Given the description of an element on the screen output the (x, y) to click on. 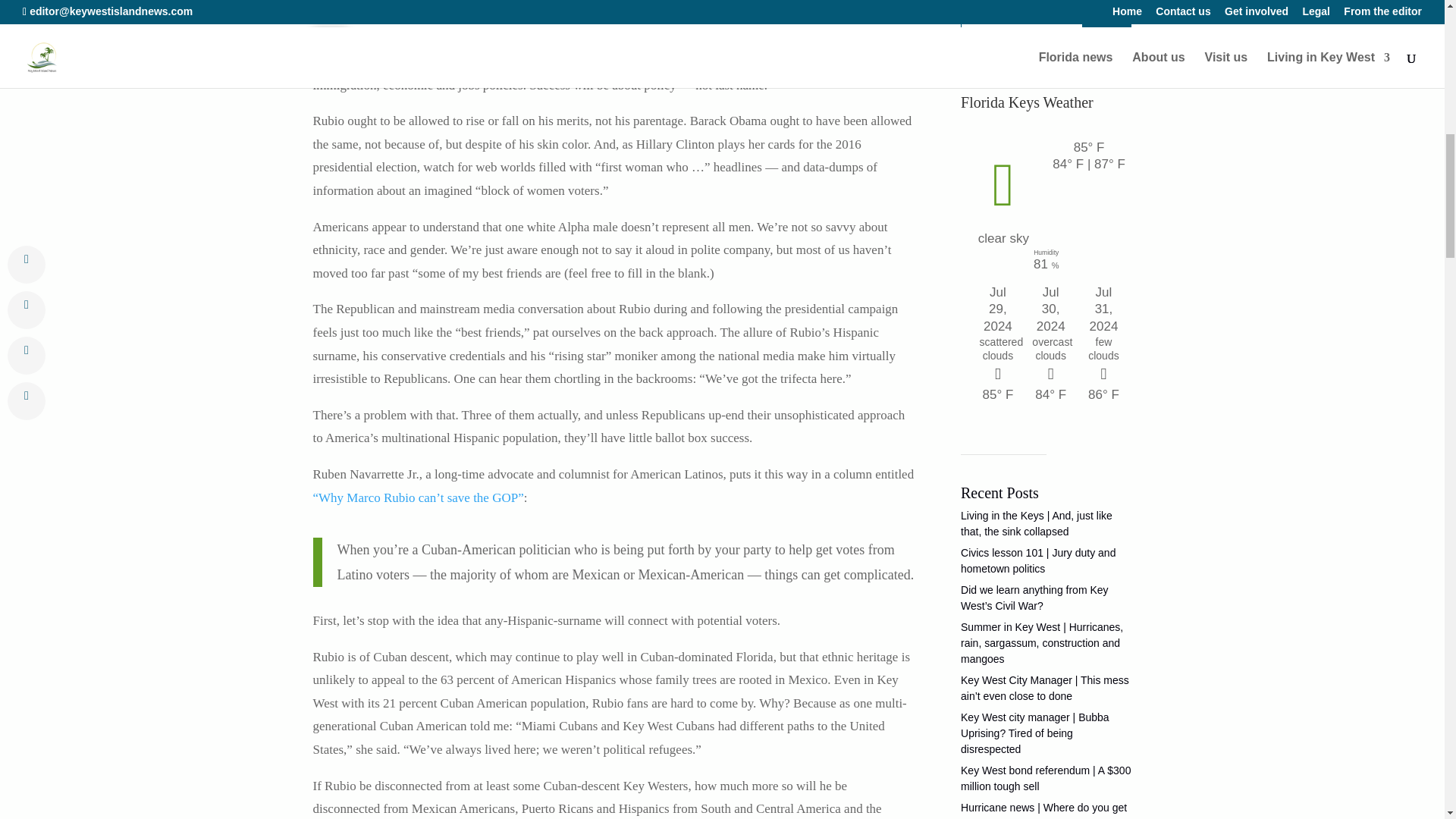
Search (1106, 17)
Web icon (329, 44)
Search (1106, 17)
Search (1106, 17)
